Given the description of an element on the screen output the (x, y) to click on. 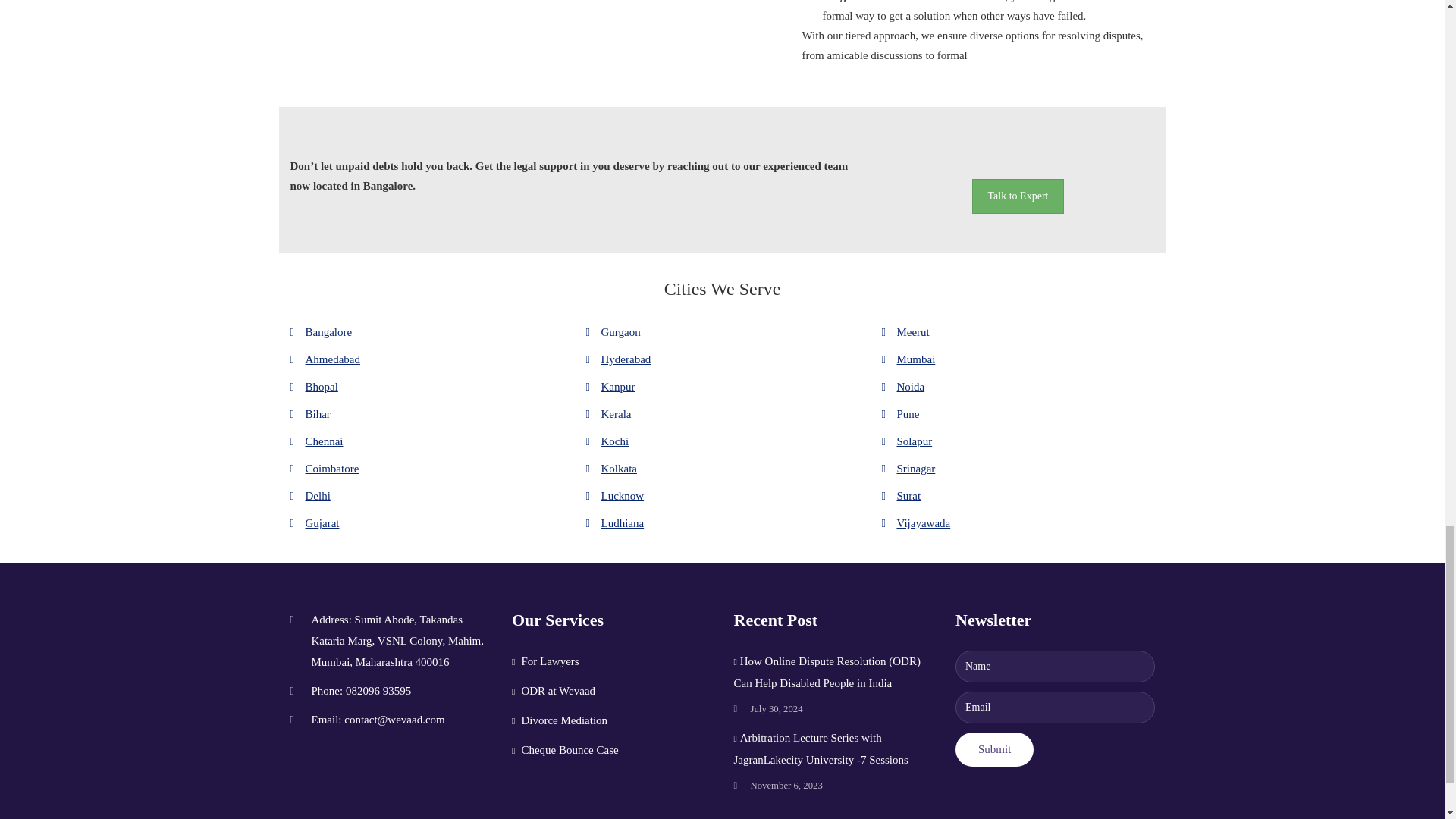
Name (1054, 666)
Email (1054, 707)
